Given the description of an element on the screen output the (x, y) to click on. 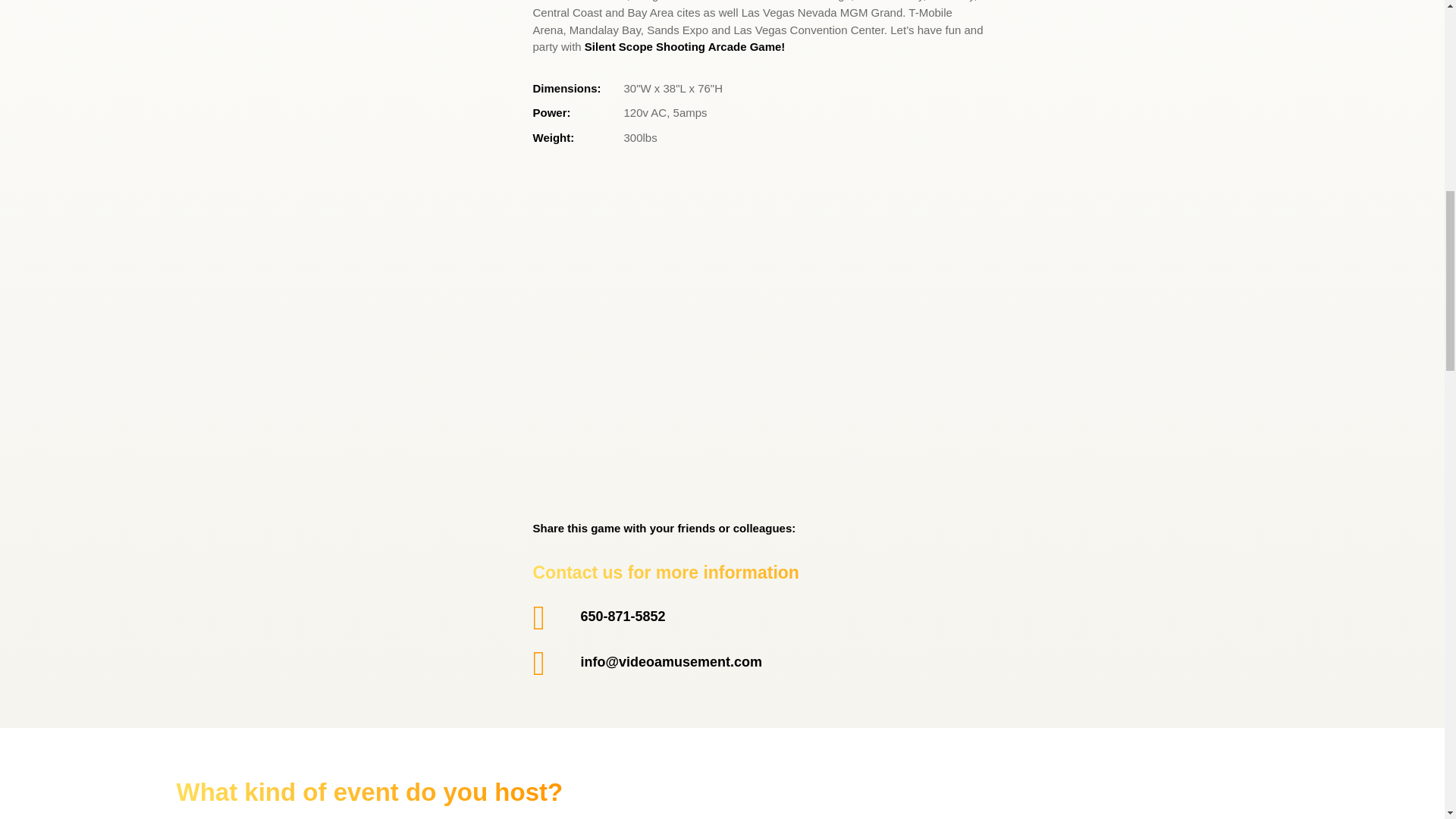
650-871-5852 (622, 616)
